Given the description of an element on the screen output the (x, y) to click on. 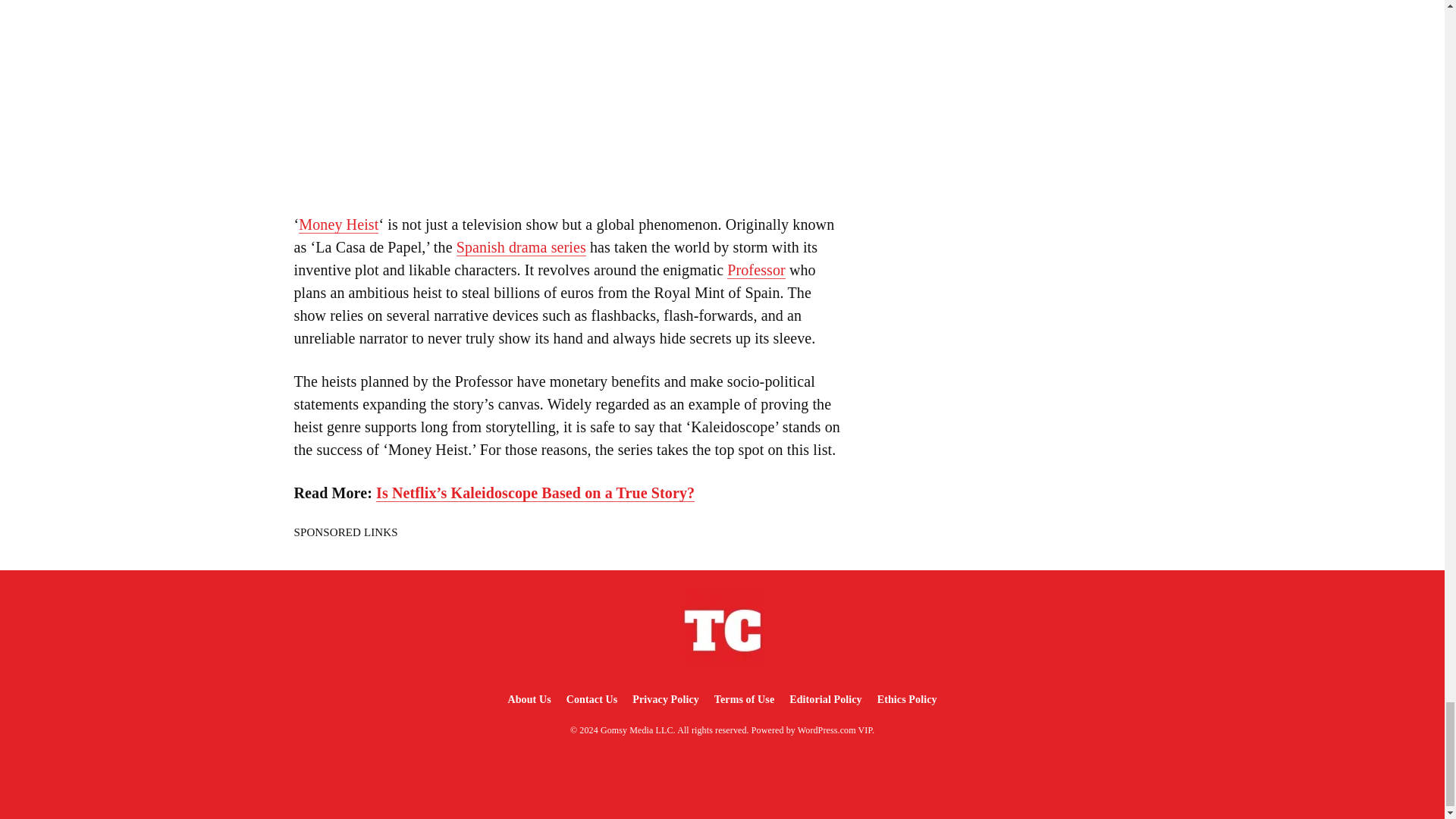
Professor (756, 270)
Spanish drama series (521, 247)
Money Heist (338, 224)
About Us (528, 699)
Contact Us (592, 699)
